Given the description of an element on the screen output the (x, y) to click on. 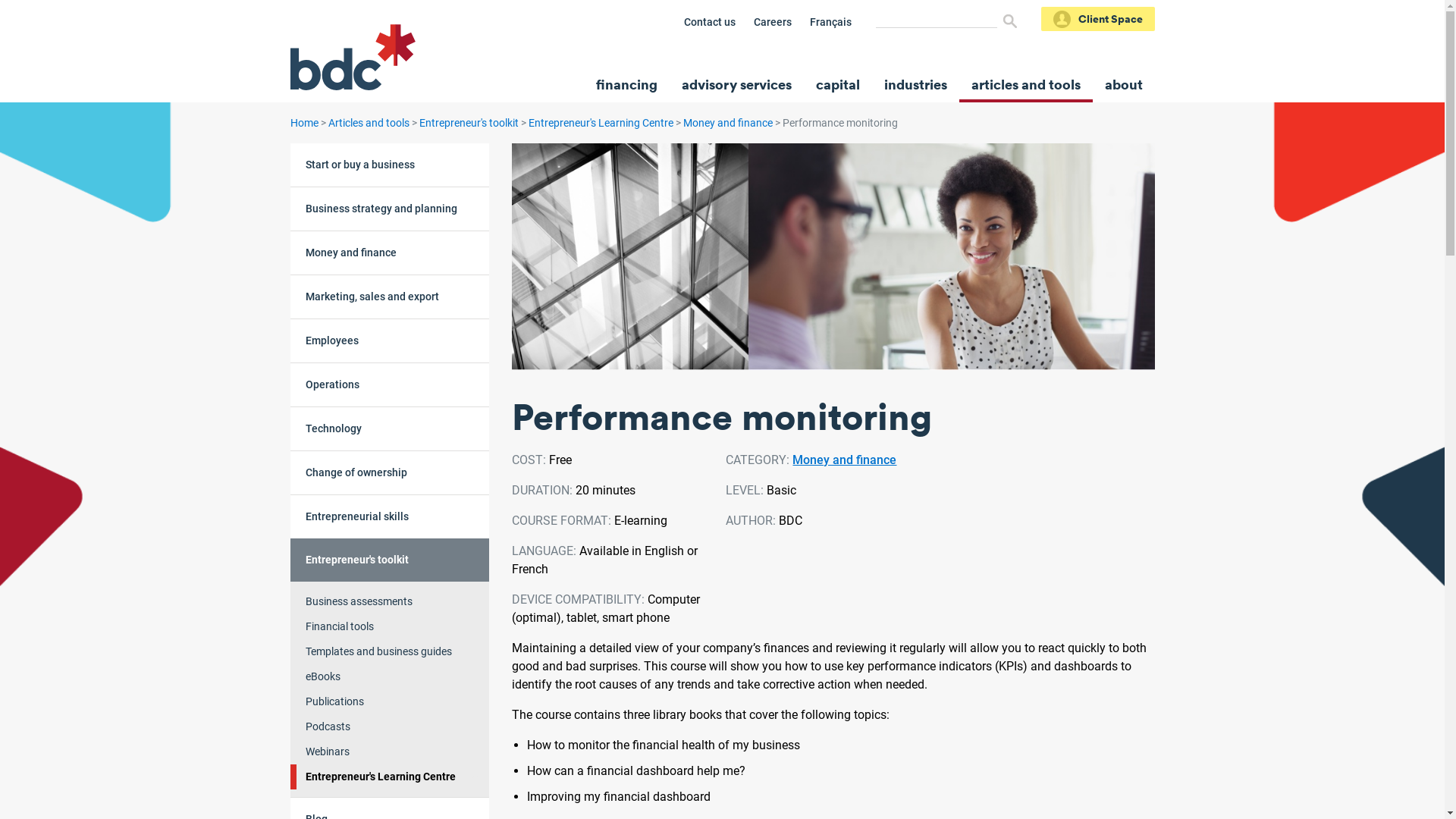
Entrepreneur's Learning Centre Element type: text (599, 122)
Publications Element type: text (389, 701)
Change of ownership Element type: text (389, 472)
Entrepreneurial skills Element type: text (389, 516)
Money and finance Element type: text (389, 252)
advisory services Element type: text (735, 83)
Business assessments Element type: text (389, 601)
Operations Element type: text (389, 384)
industries Element type: text (915, 83)
Employees Element type: text (389, 340)
articles and tools Element type: text (1025, 83)
about Element type: text (1123, 83)
Technology Element type: text (389, 428)
Podcasts Element type: text (389, 726)
Articles and tools Element type: text (367, 122)
financing Element type: text (626, 83)
Financial tools Element type: text (389, 626)
Client Space Element type: text (1097, 18)
Entrepreneur's toolkit Element type: text (467, 122)
capital Element type: text (837, 83)
Money and finance Element type: text (844, 459)
Contact us Element type: text (709, 21)
Search Element type: hover (1009, 21)
eBooks Element type: text (389, 676)
Webinars Element type: text (389, 751)
Careers Element type: text (772, 21)
Marketing, sales and export Element type: text (389, 296)
Entrepreneur's toolkit Element type: text (389, 559)
Templates and business guides Element type: text (389, 651)
Start or buy a business Element type: text (389, 164)
Money and finance Element type: text (726, 122)
Home Element type: text (303, 122)
Business strategy and planning Element type: text (389, 208)
Entrepreneur's Learning Centre Element type: text (389, 776)
